Given the description of an element on the screen output the (x, y) to click on. 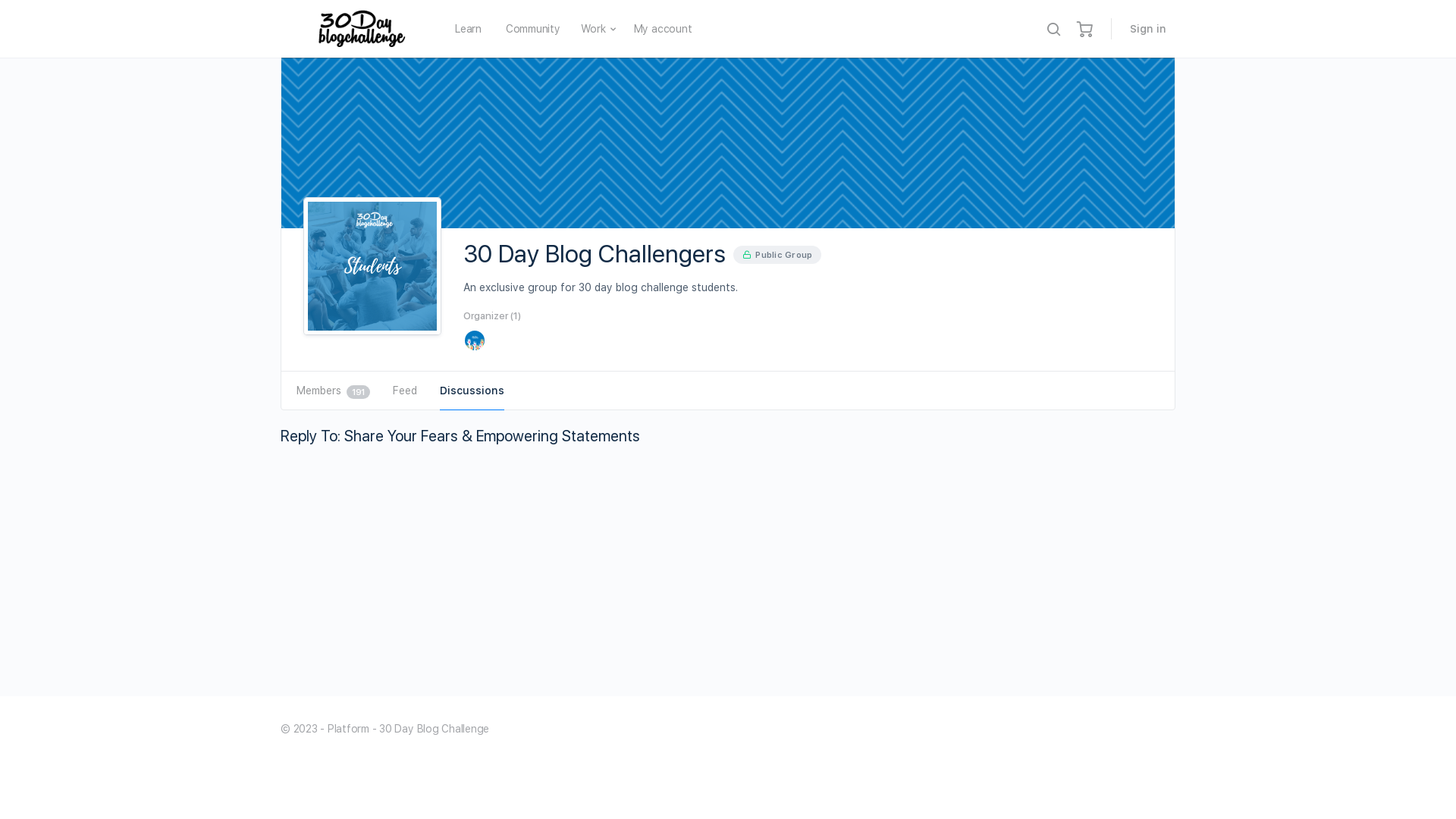
Discussions Element type: text (471, 390)
Community Element type: text (532, 28)
Members 191 Element type: text (333, 390)
Sign in Element type: text (1147, 28)
Work Element type: text (592, 28)
My account Element type: text (662, 28)
Feed Element type: text (404, 390)
Learn Element type: text (468, 28)
